Given the description of an element on the screen output the (x, y) to click on. 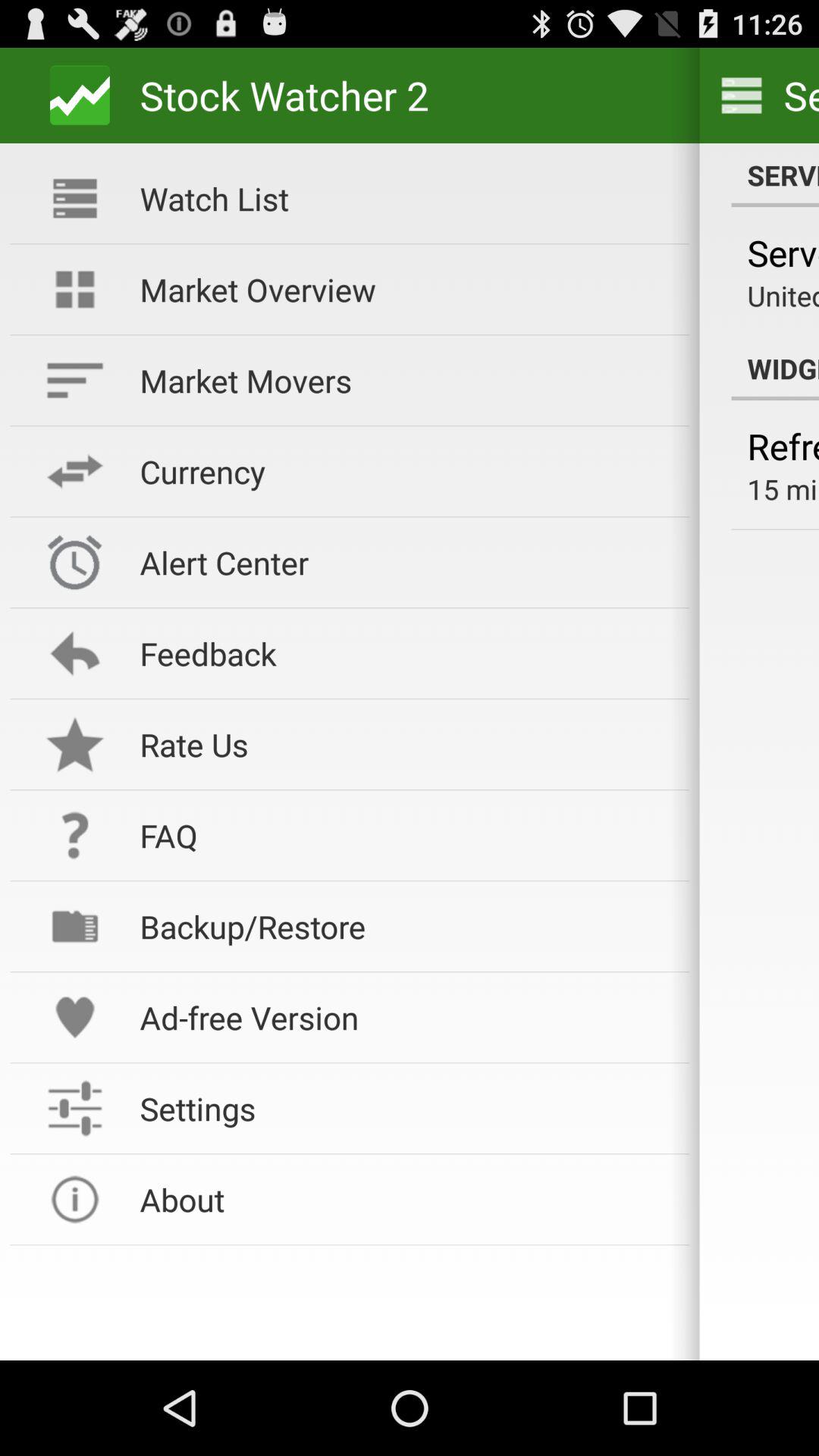
scroll until rate us icon (404, 744)
